Given the description of an element on the screen output the (x, y) to click on. 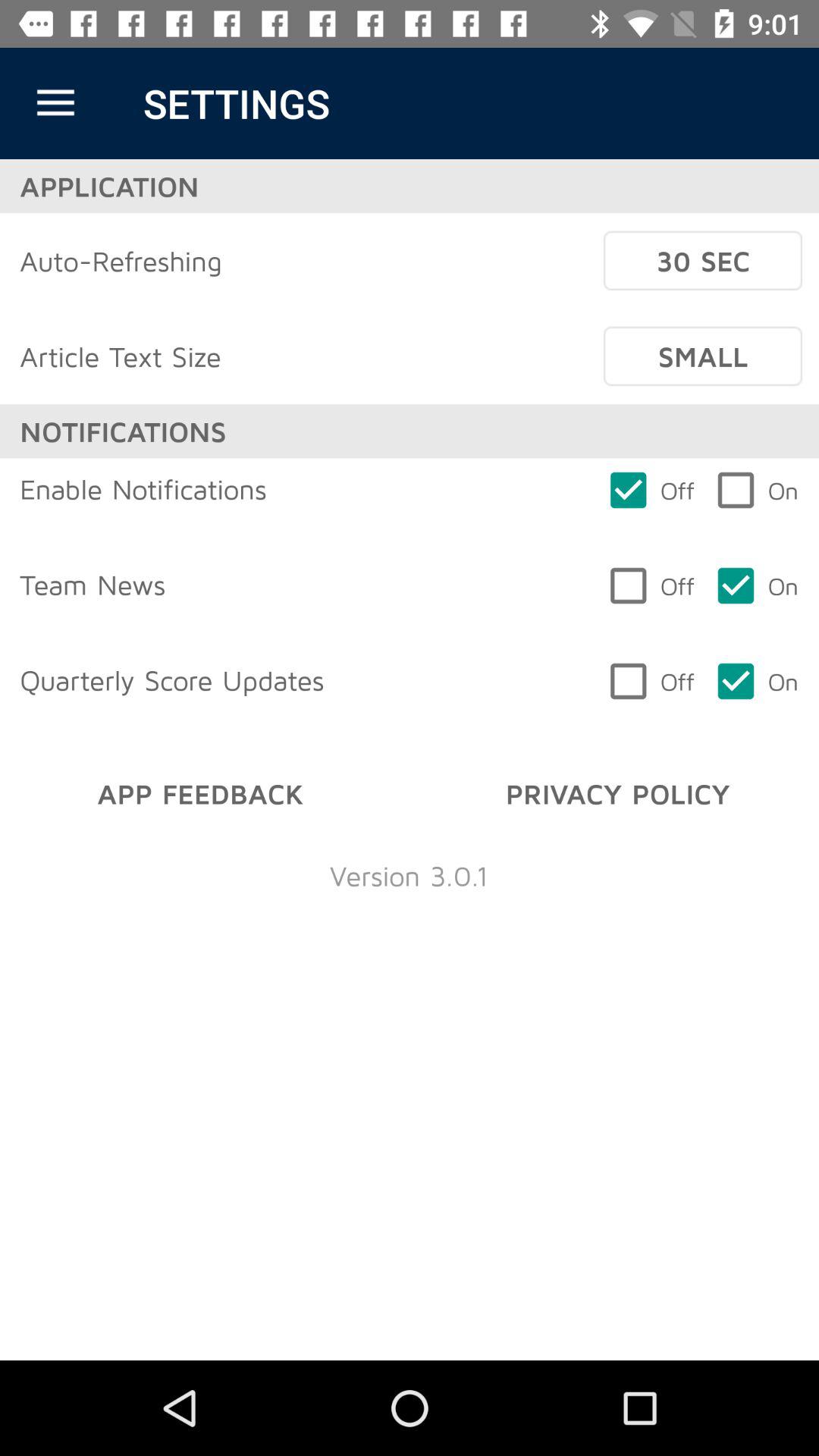
select item below the app feedback item (408, 875)
